Given the description of an element on the screen output the (x, y) to click on. 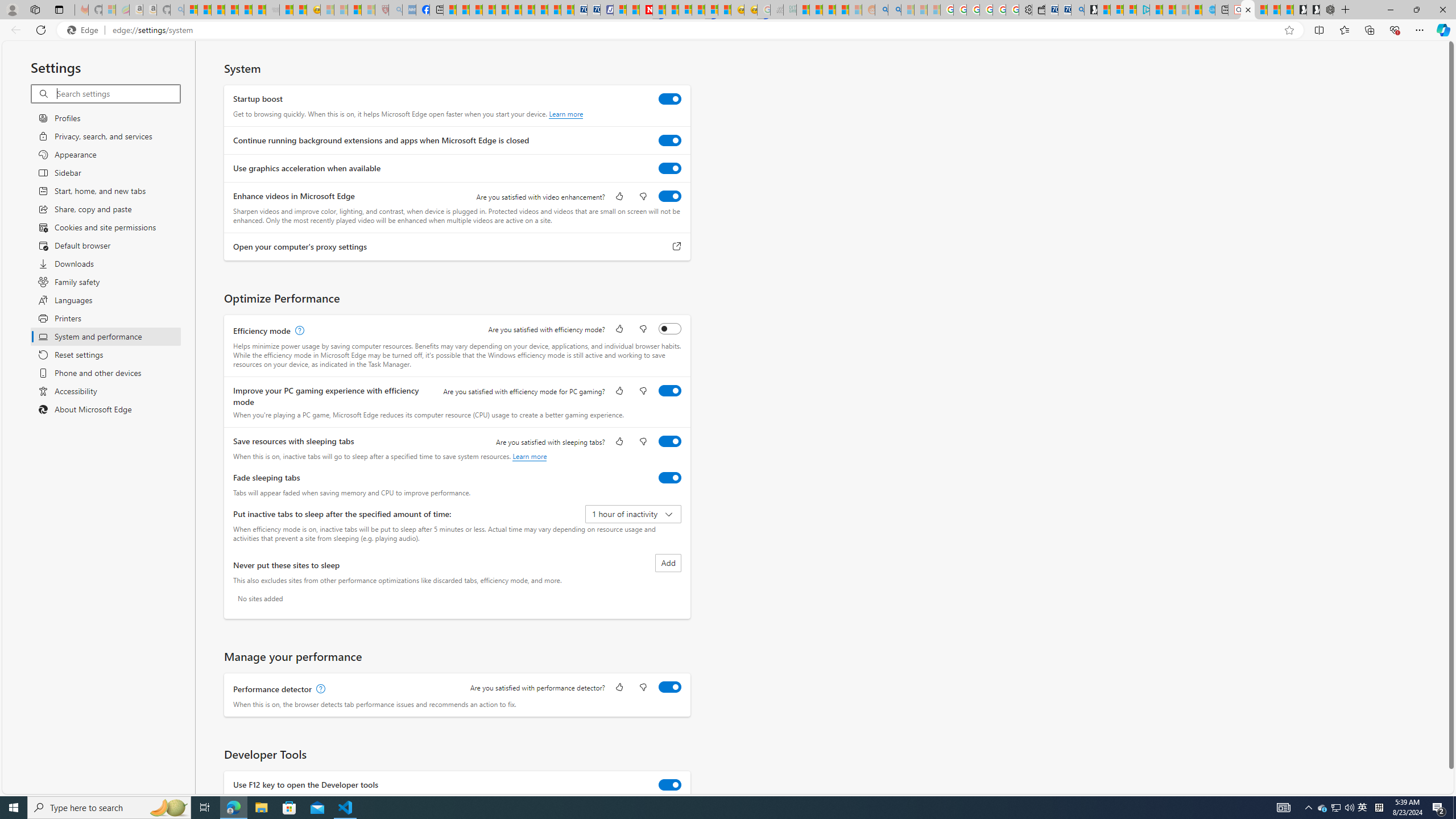
Enhance videos in Microsoft Edge (669, 196)
Utah sues federal government - Search (894, 9)
Performance detector (669, 686)
